Given the description of an element on the screen output the (x, y) to click on. 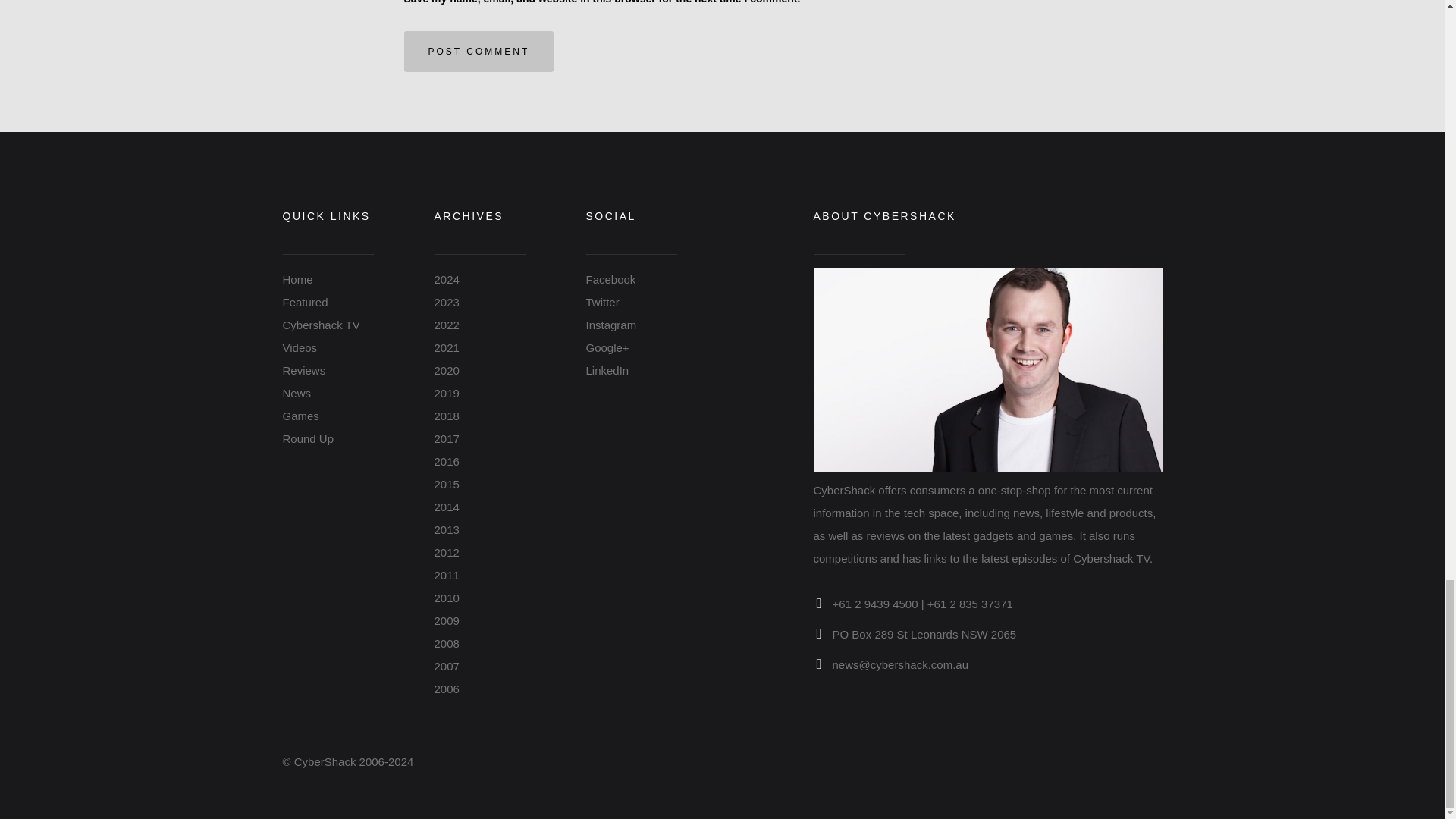
Cybershack TV (320, 324)
Post Comment (478, 51)
Videos (299, 347)
2024 (445, 278)
2023 (445, 301)
Home (297, 278)
News (296, 392)
Reviews (303, 369)
Featured (304, 301)
Round Up (307, 438)
Post Comment (478, 51)
Games (300, 415)
